Given the description of an element on the screen output the (x, y) to click on. 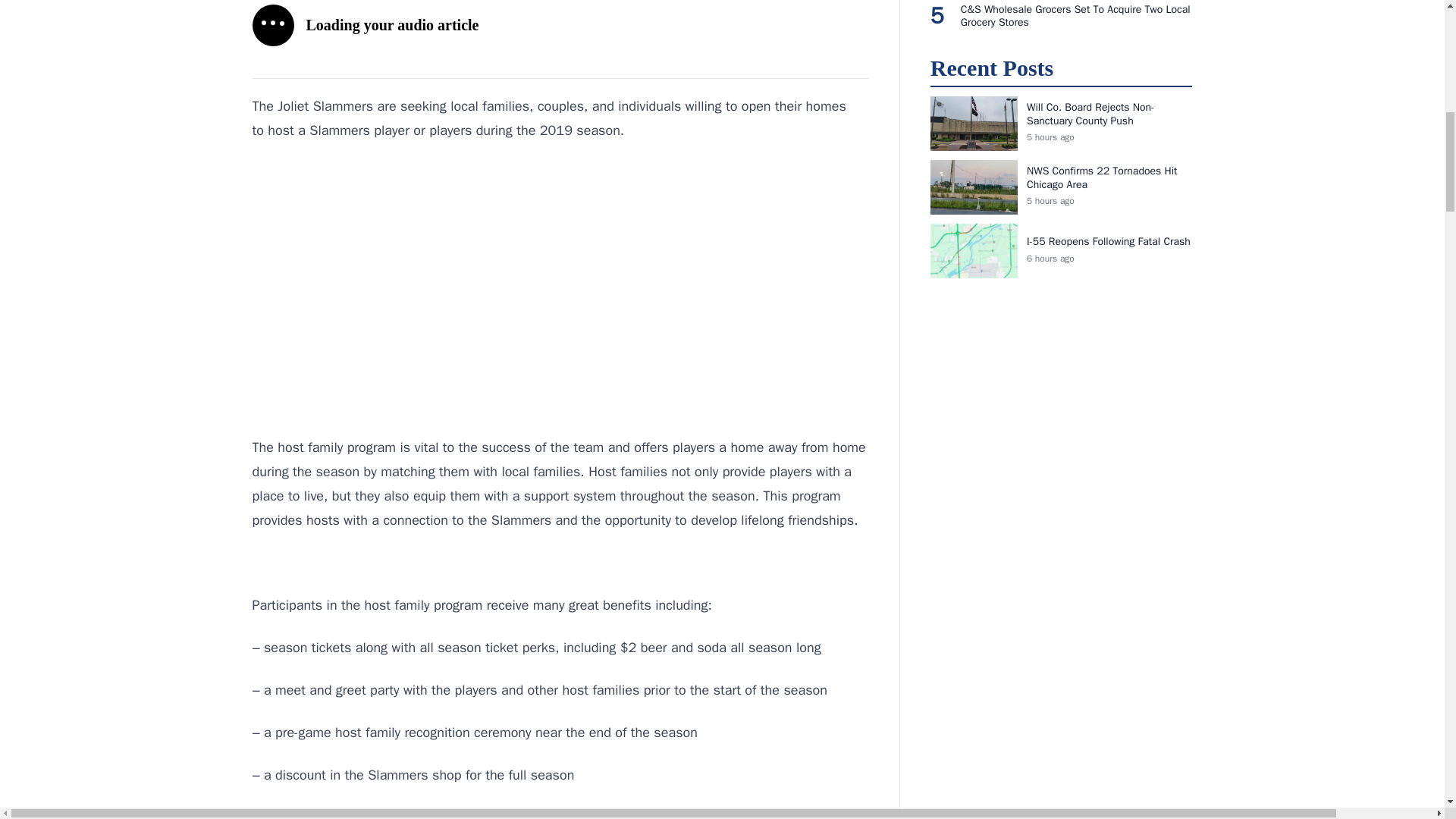
3rd party ad content (560, 309)
